Given the description of an element on the screen output the (x, y) to click on. 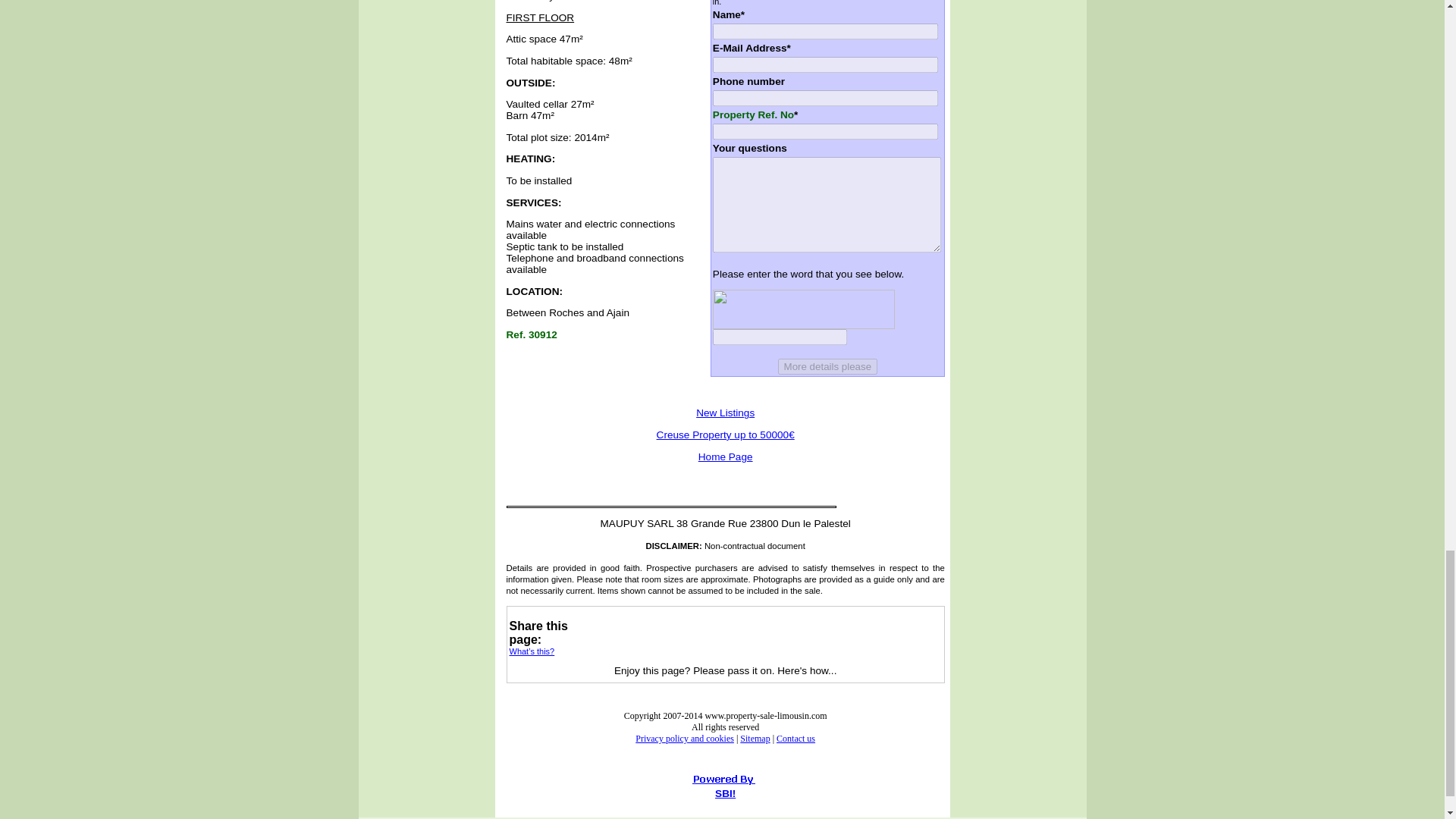
Home Page (725, 456)
More details please (827, 366)
New Listings (724, 412)
More details please (827, 366)
Privacy policy and cookies (683, 737)
